Given the description of an element on the screen output the (x, y) to click on. 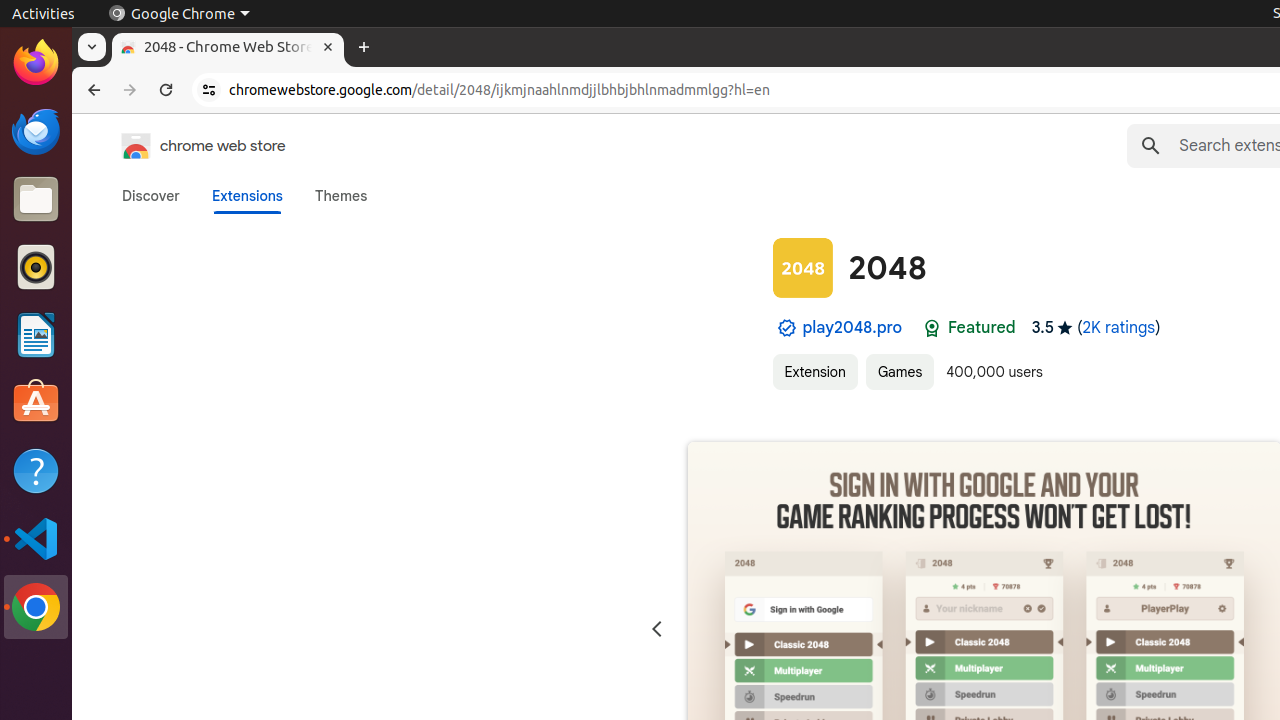
Previous slide Element type: push-button (656, 629)
Extensions Element type: page-tab (247, 196)
Chrome Web Store logo chrome web store Element type: link (183, 146)
Firefox Web Browser Element type: push-button (36, 63)
2K ratings Element type: link (1119, 328)
